Given the description of an element on the screen output the (x, y) to click on. 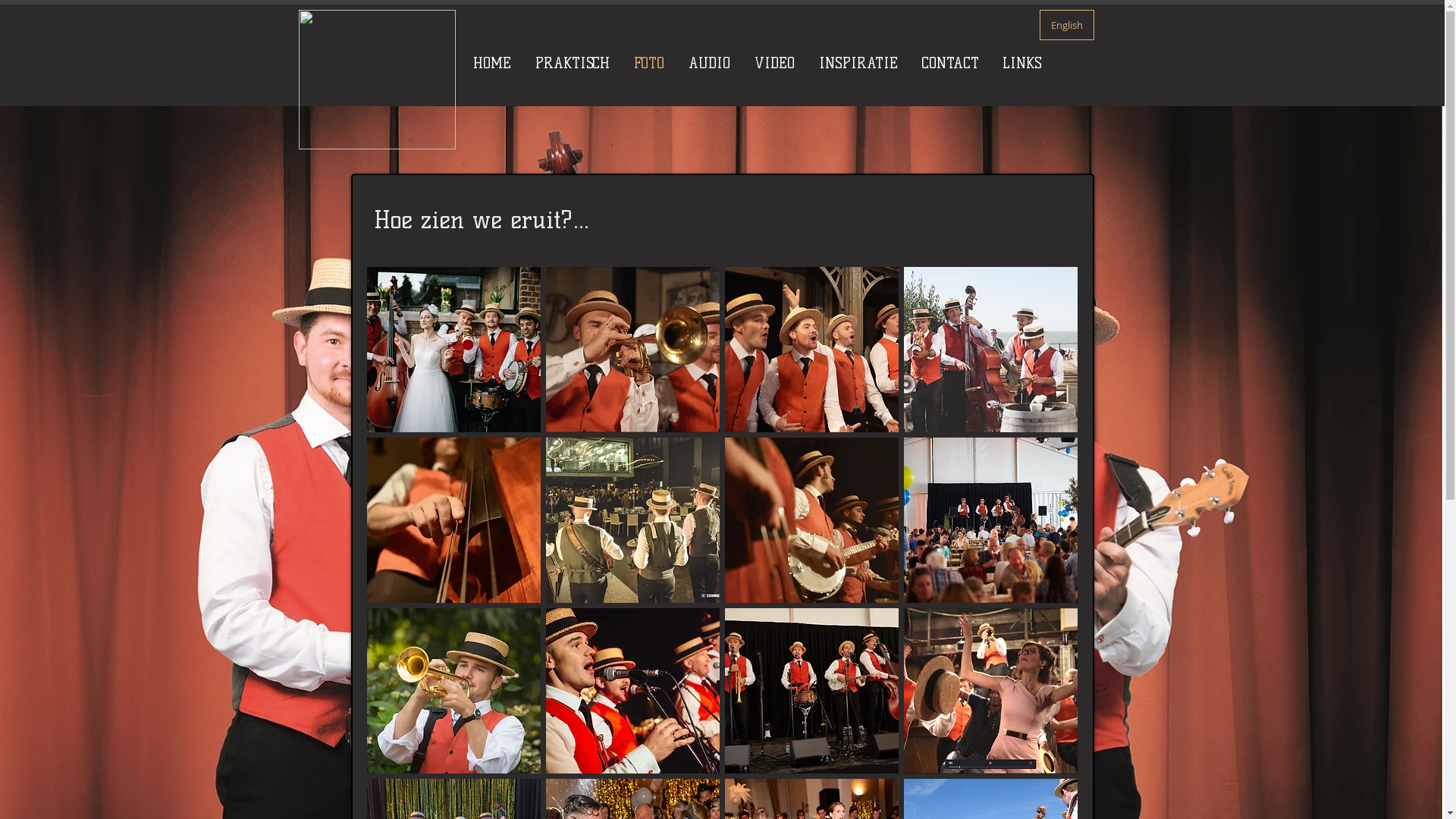
CONTACT Element type: text (950, 63)
HOME Element type: text (492, 63)
LINKS Element type: text (1021, 63)
AUDIO Element type: text (709, 63)
English Element type: text (1065, 24)
INSPIRATIE Element type: text (858, 63)
FOTO Element type: text (648, 63)
VIDEO Element type: text (773, 63)
PRAKTISCH Element type: text (572, 63)
